Given the description of an element on the screen output the (x, y) to click on. 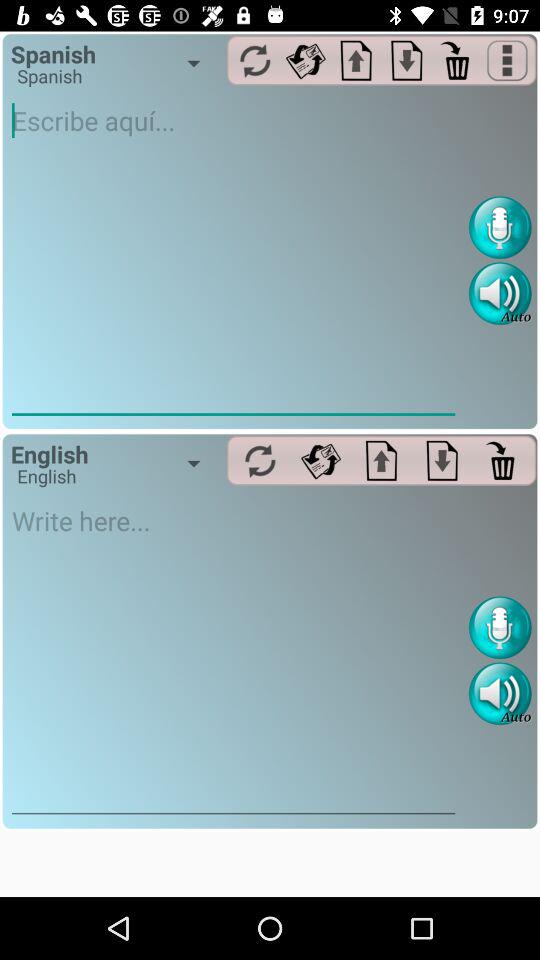
record button (499, 227)
